Given the description of an element on the screen output the (x, y) to click on. 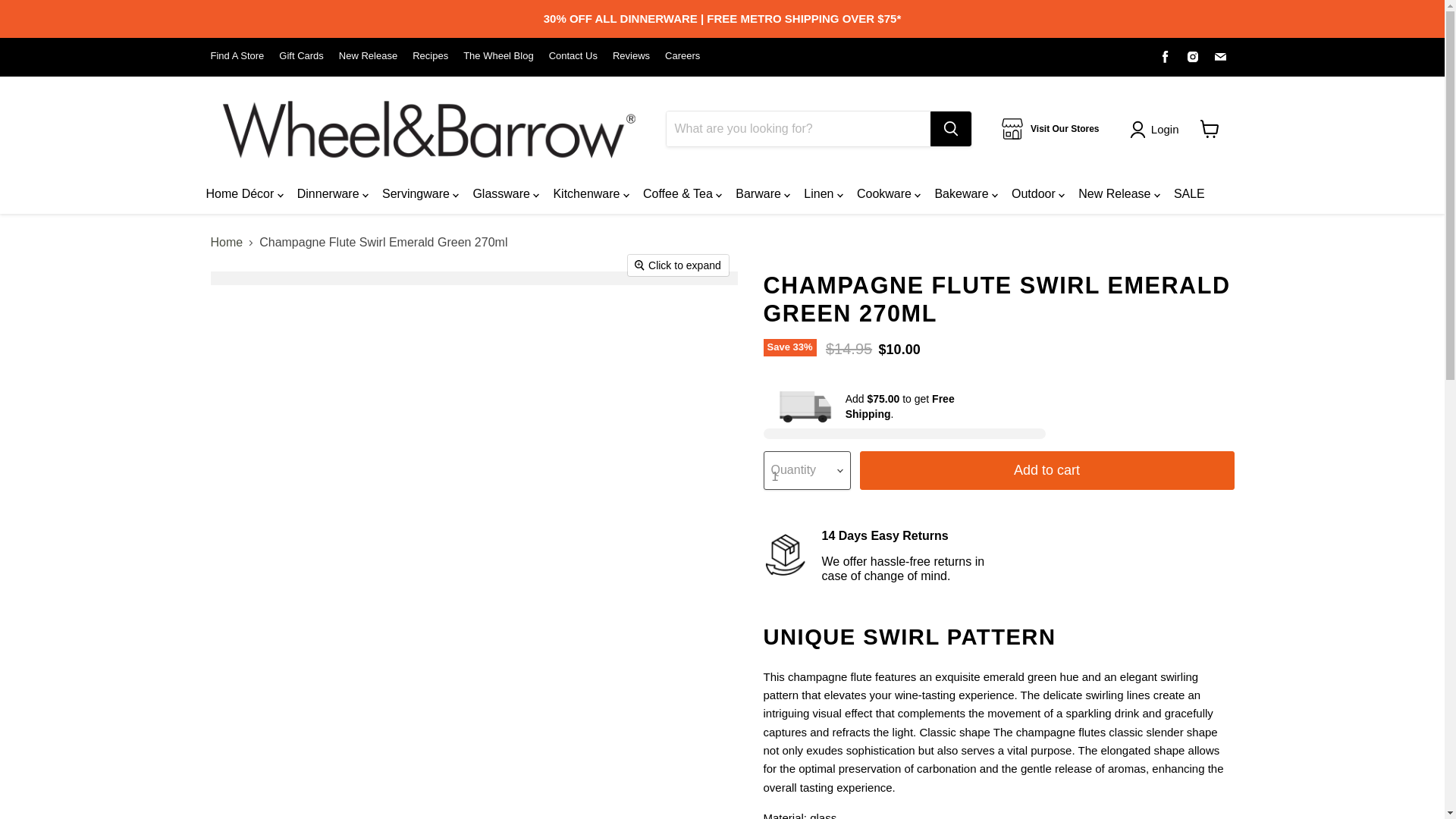
Find us on Instagram (1193, 55)
Find us on Facebook (1165, 55)
Recipes (430, 56)
The Wheel Blog (498, 56)
View cart (1208, 128)
Instagram (1193, 55)
Careers (682, 56)
Facebook (1165, 55)
New Release (368, 56)
Find A Store (237, 56)
